Given the description of an element on the screen output the (x, y) to click on. 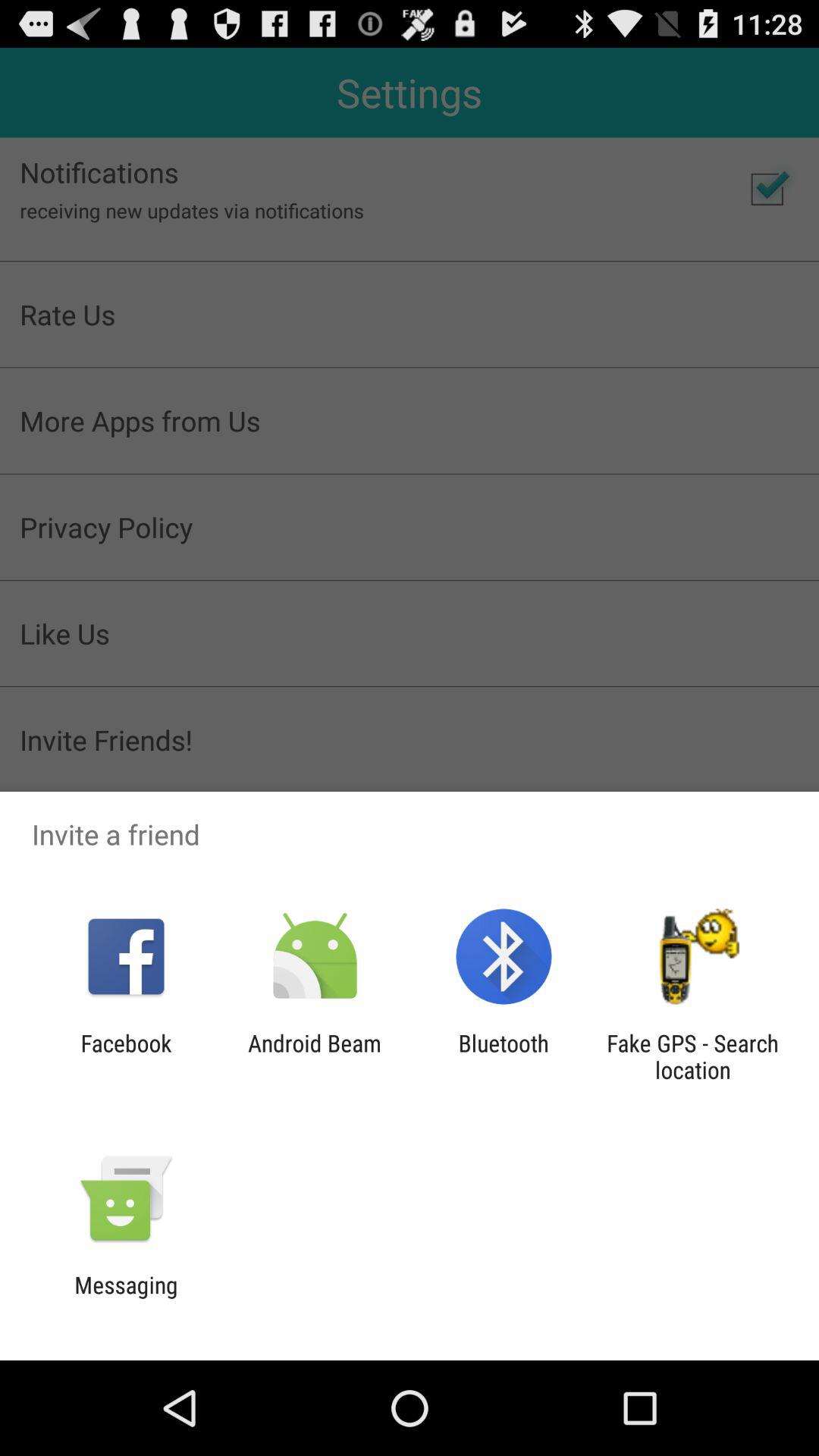
turn on the app to the left of the fake gps search icon (503, 1056)
